Given the description of an element on the screen output the (x, y) to click on. 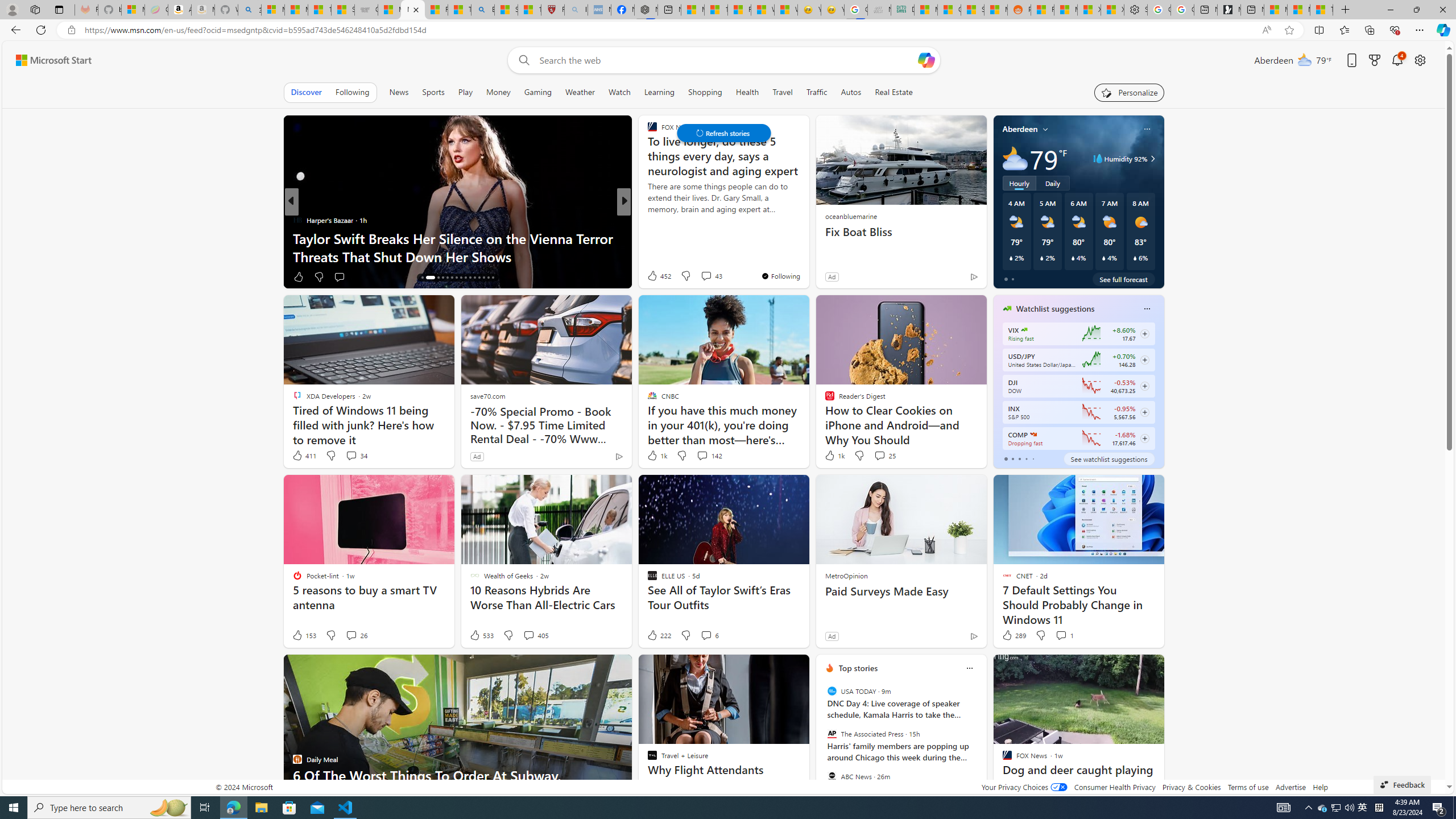
tab-3 (1025, 458)
Bing (482, 9)
Real Estate (893, 92)
67 Like (652, 276)
1k Like (833, 455)
These 3 Stocks Pay You More Than 5% to Own Them (1321, 9)
Sports (432, 92)
